Given the description of an element on the screen output the (x, y) to click on. 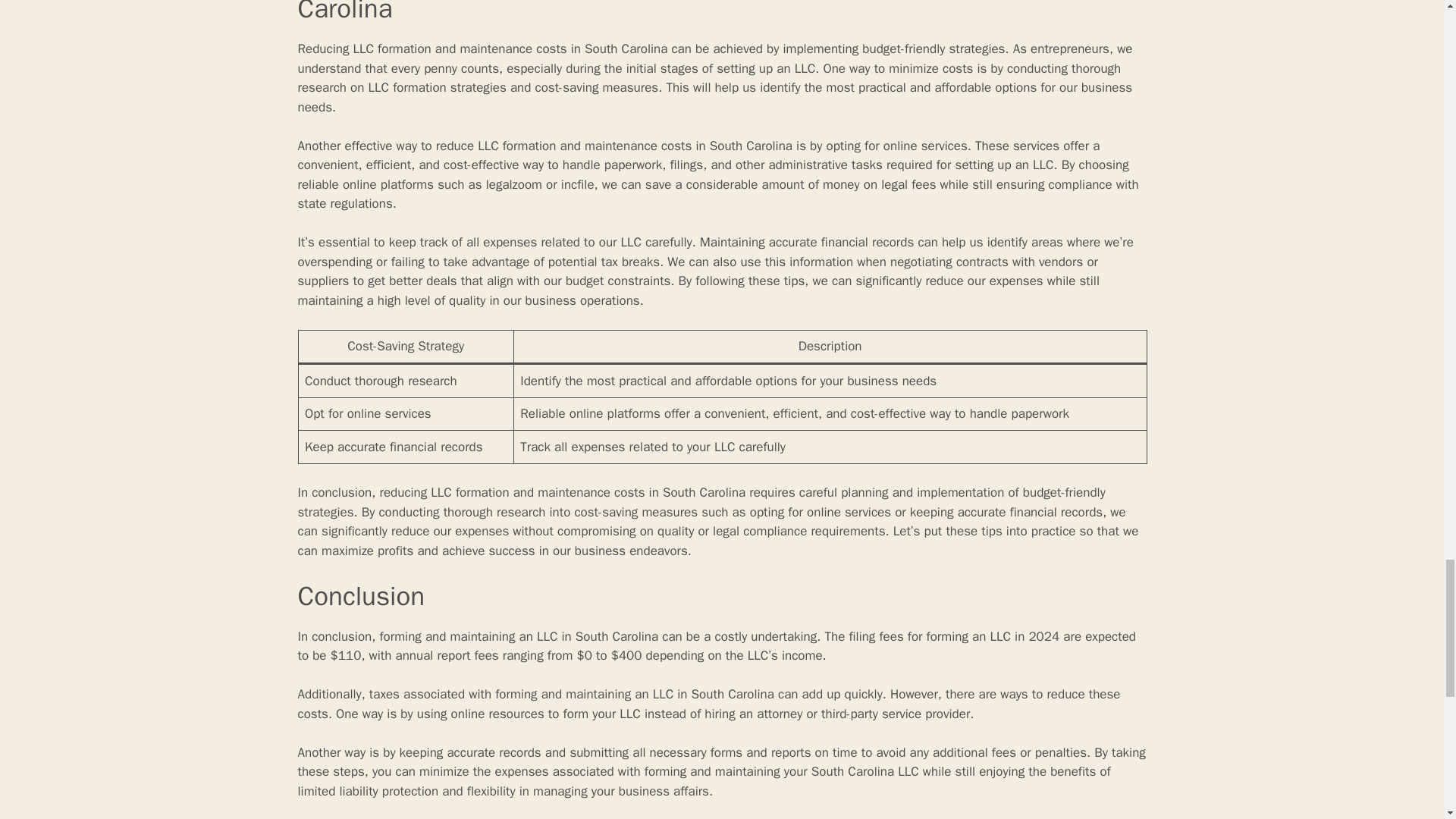
legalzoom (513, 184)
incfile (577, 184)
Incfile Review - Make the Most of LLC Formation Services (577, 184)
